Given the description of an element on the screen output the (x, y) to click on. 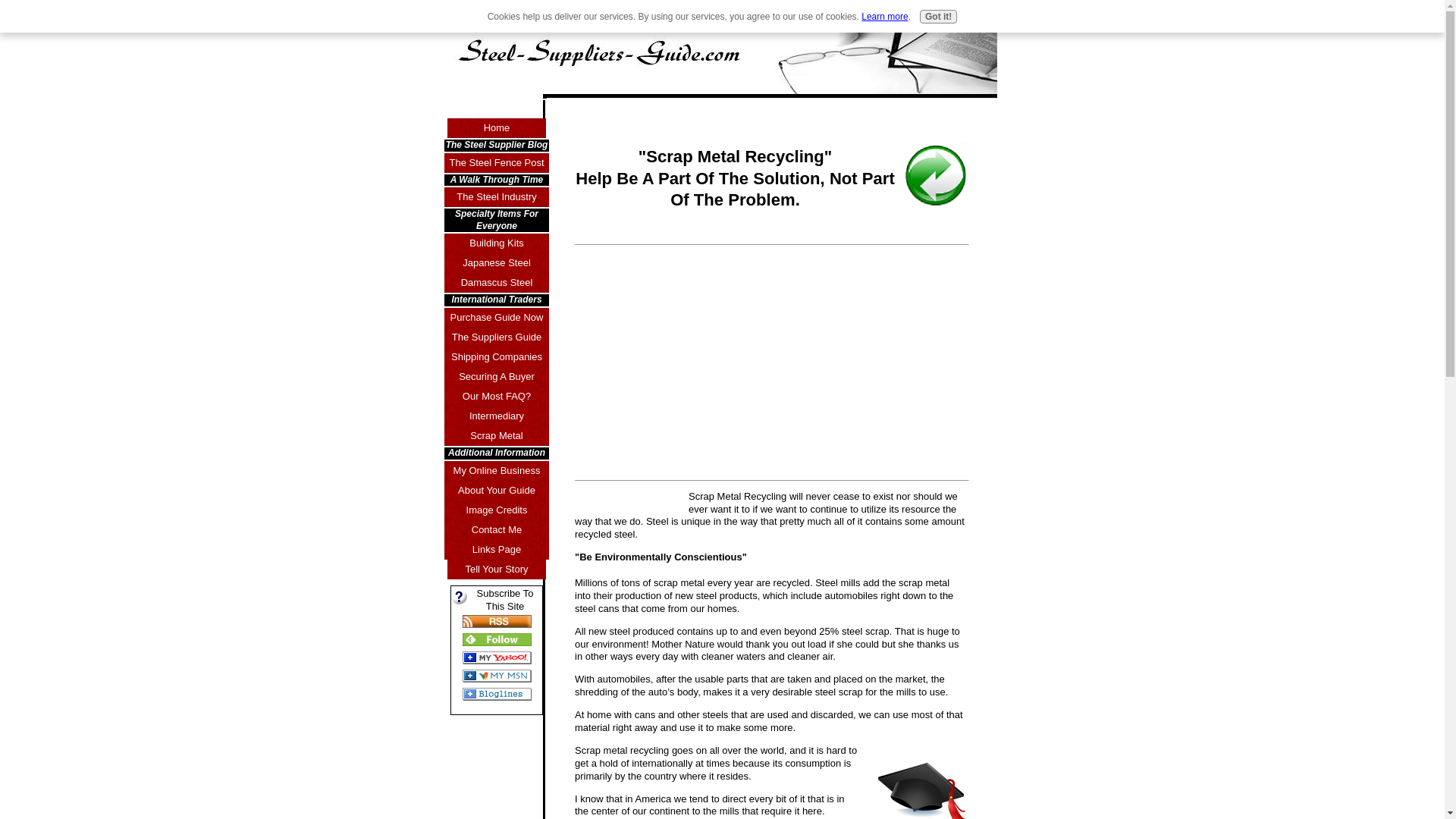
Home (496, 127)
Japanese Steel (496, 262)
Securing A Buyer (496, 376)
Purchase Guide Now (496, 317)
Tell Your Story (496, 569)
Image Credits (496, 510)
The Suppliers Guide (496, 337)
Scrap Metal (496, 435)
Our Most FAQ? (496, 396)
Damascus Steel (496, 282)
